Given the description of an element on the screen output the (x, y) to click on. 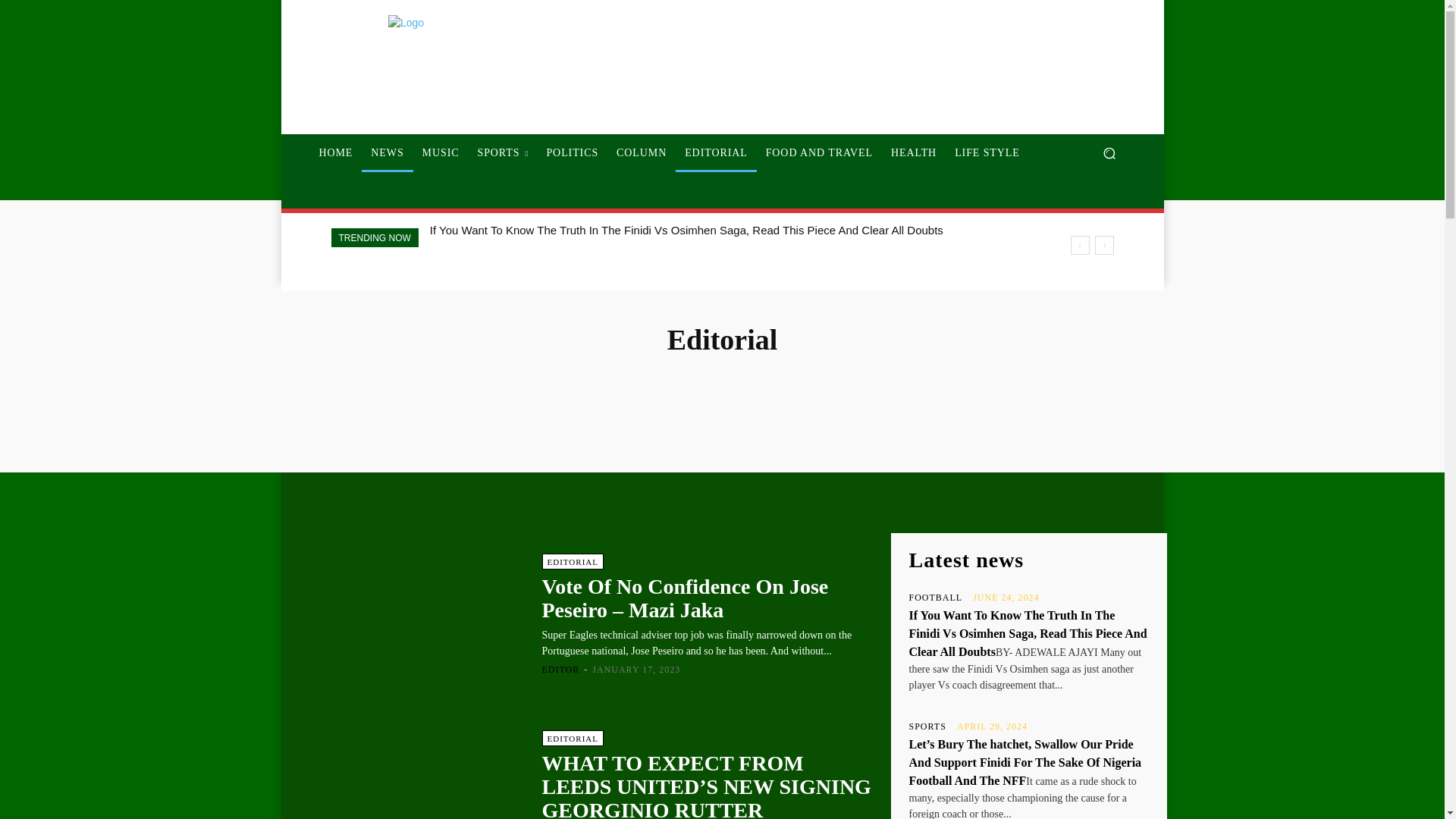
EDITORIAL (716, 152)
POLITICS (572, 152)
MUSIC (440, 152)
COLUMN (641, 152)
HOME (334, 152)
NEWS (386, 152)
SPORTS (502, 152)
